Given the description of an element on the screen output the (x, y) to click on. 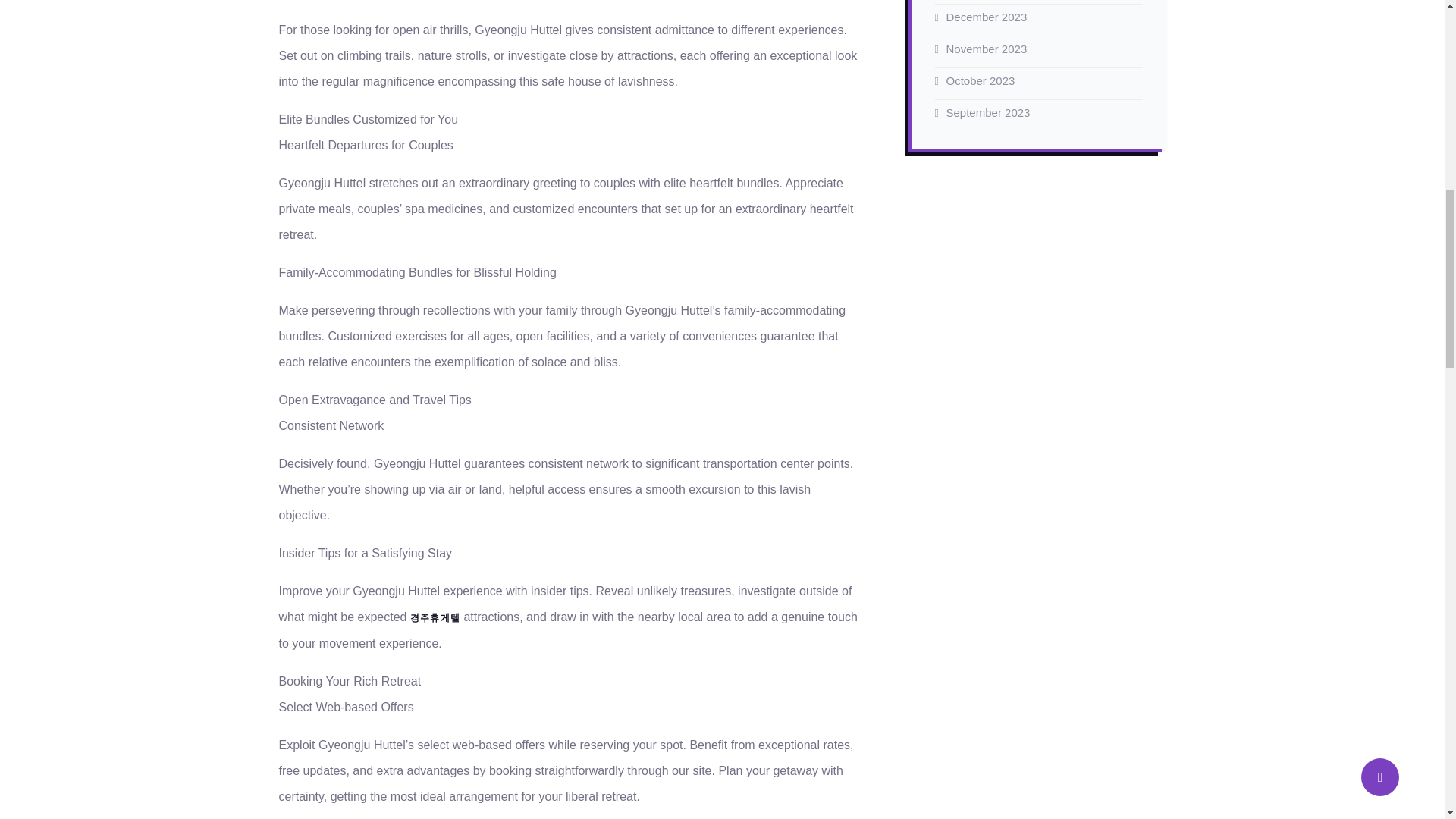
September 2023 (988, 112)
October 2023 (980, 80)
December 2023 (986, 16)
November 2023 (986, 48)
